Given the description of an element on the screen output the (x, y) to click on. 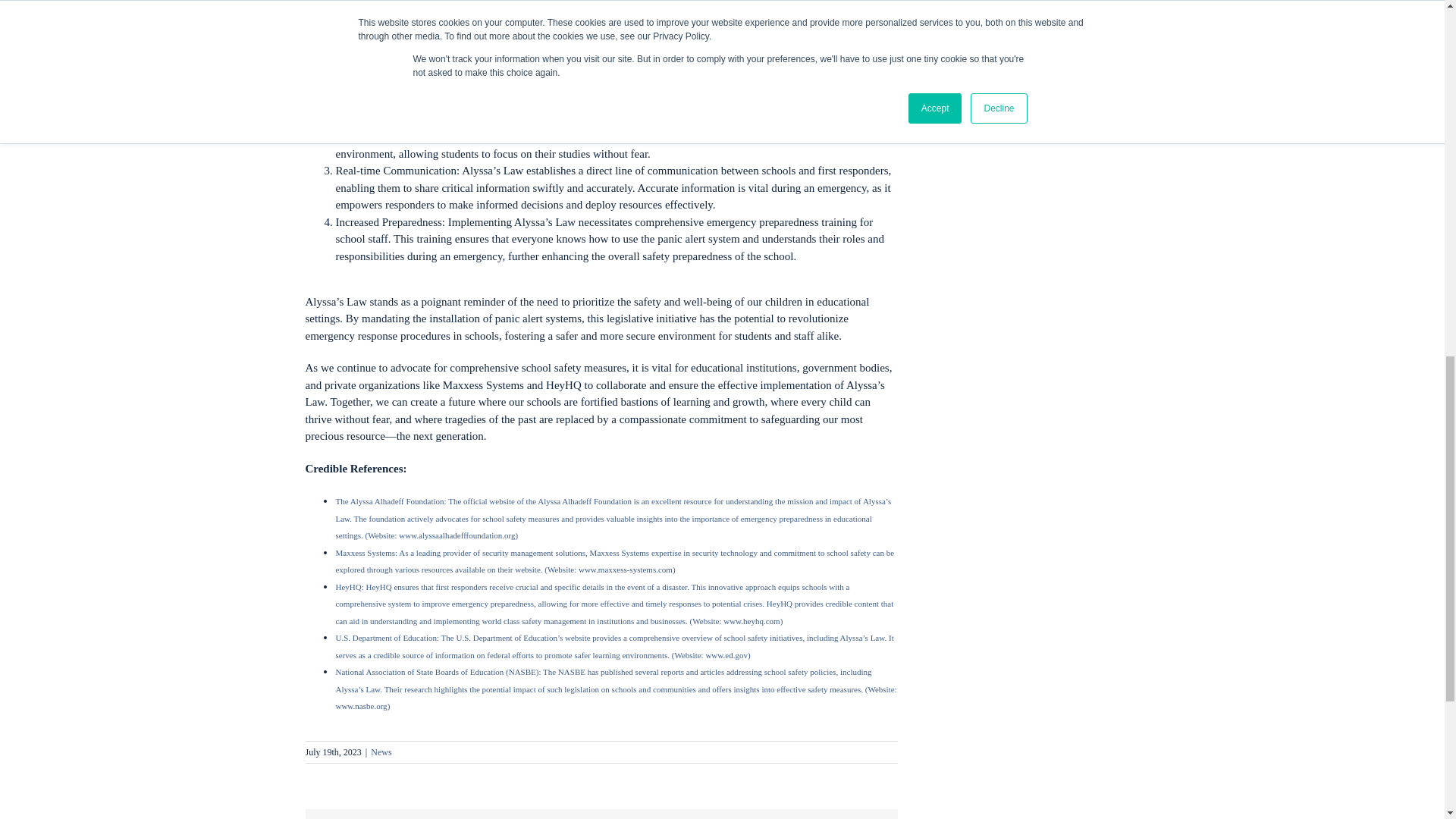
News (381, 751)
www.maxxess-systems.com (625, 569)
www.nasbe.org (360, 705)
www.heyhq.com (749, 620)
www.ed.gov (726, 655)
